Given the description of an element on the screen output the (x, y) to click on. 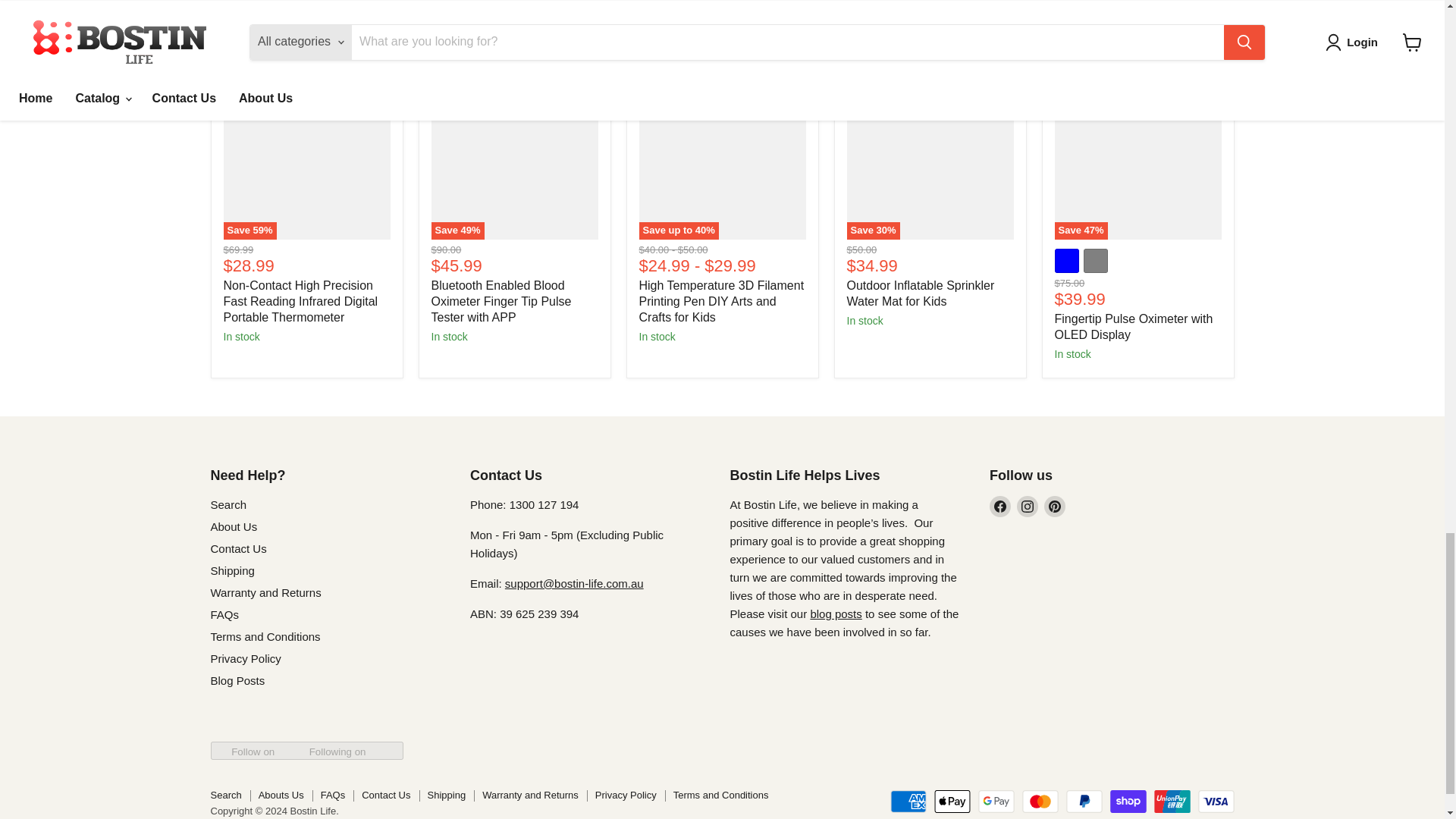
Facebook (1000, 506)
News (835, 613)
Pinterest (1054, 506)
Instagram (1027, 506)
